Given the description of an element on the screen output the (x, y) to click on. 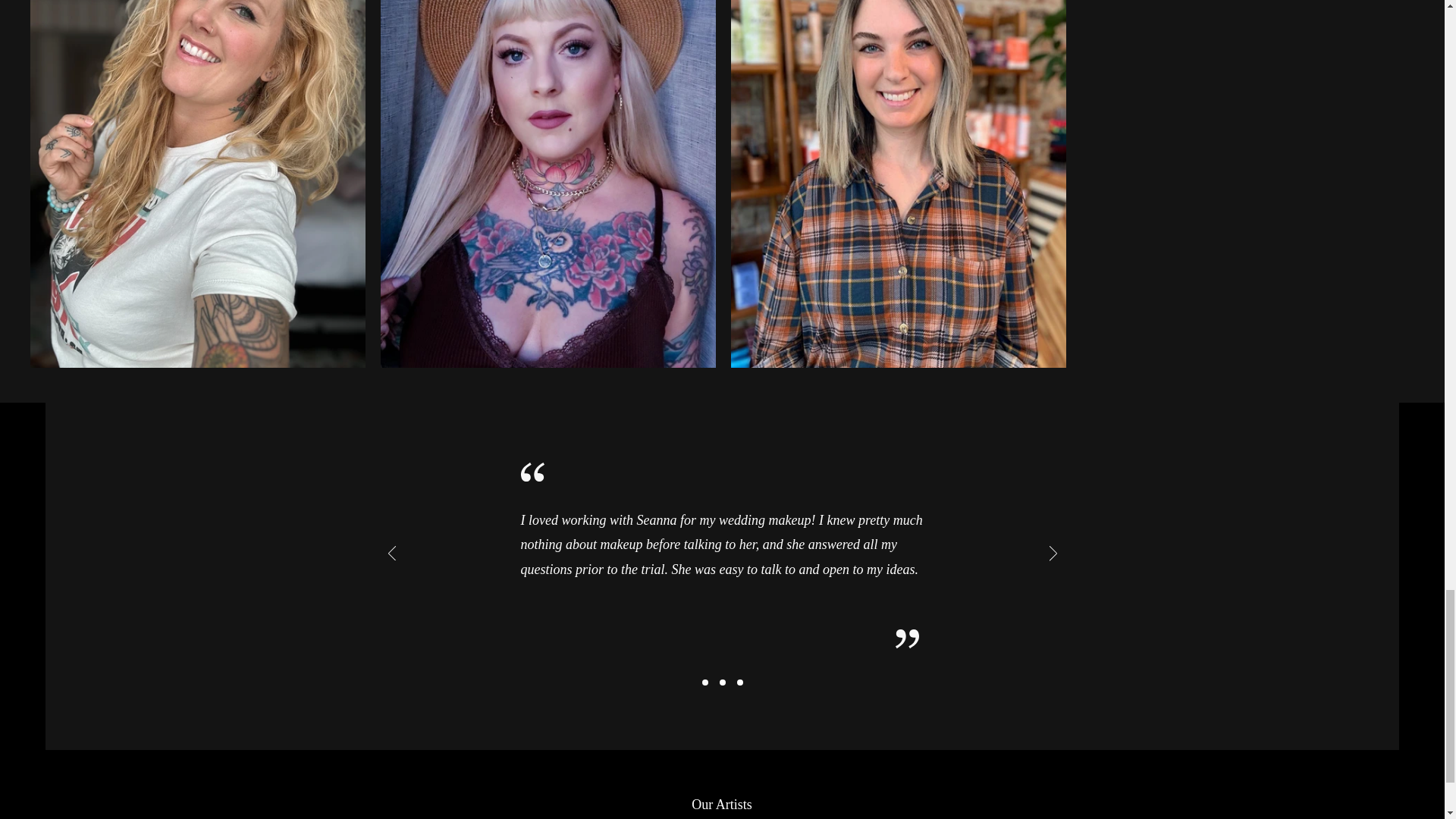
Tattoo Aftercare (721, 816)
Our Artists (721, 804)
